Given the description of an element on the screen output the (x, y) to click on. 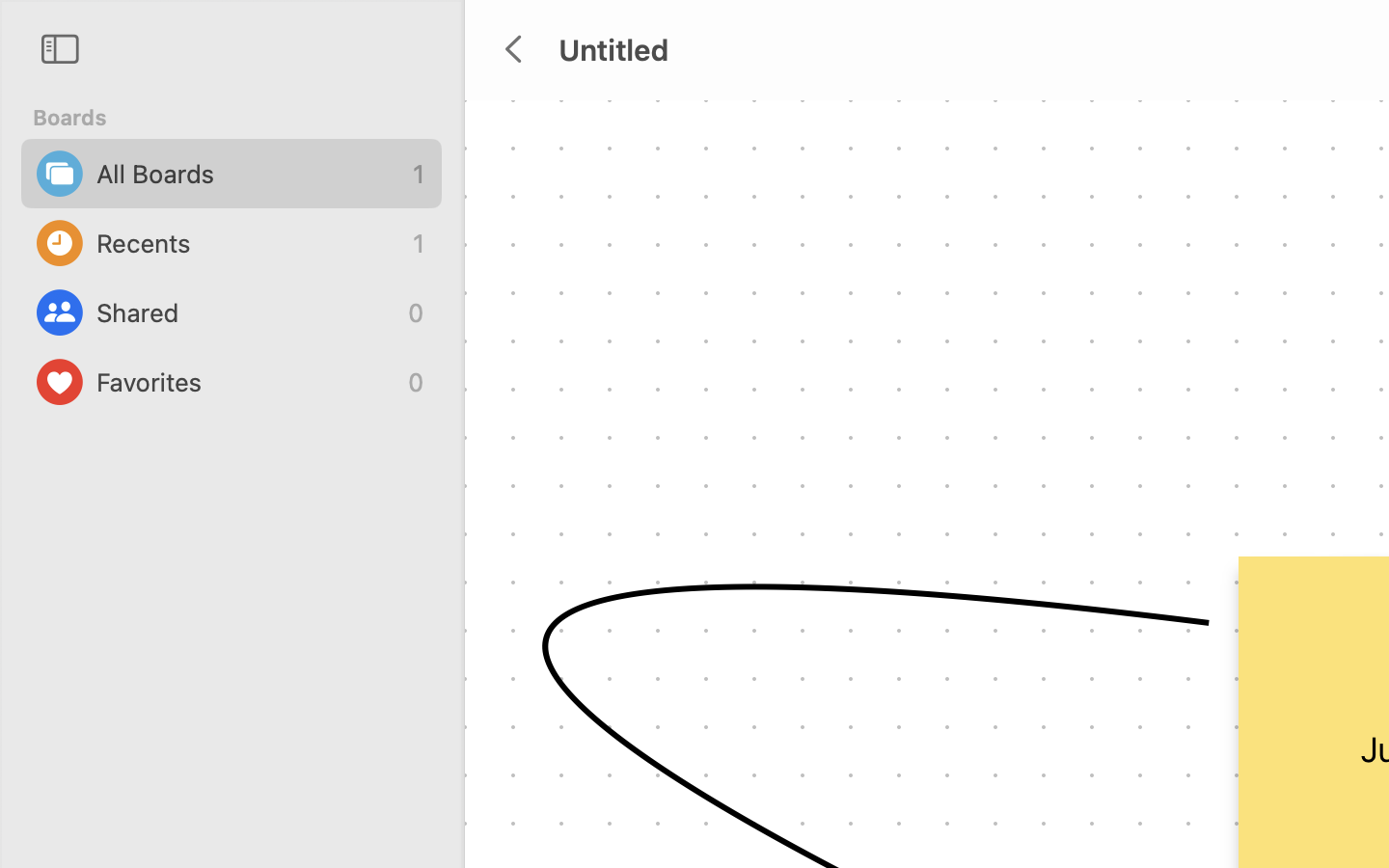
Recents Element type: AXStaticText (249, 242)
Boards Element type: AXStaticText (242, 117)
All Boards Element type: AXStaticText (249, 173)
Favorites Element type: AXStaticText (246, 381)
